Given the description of an element on the screen output the (x, y) to click on. 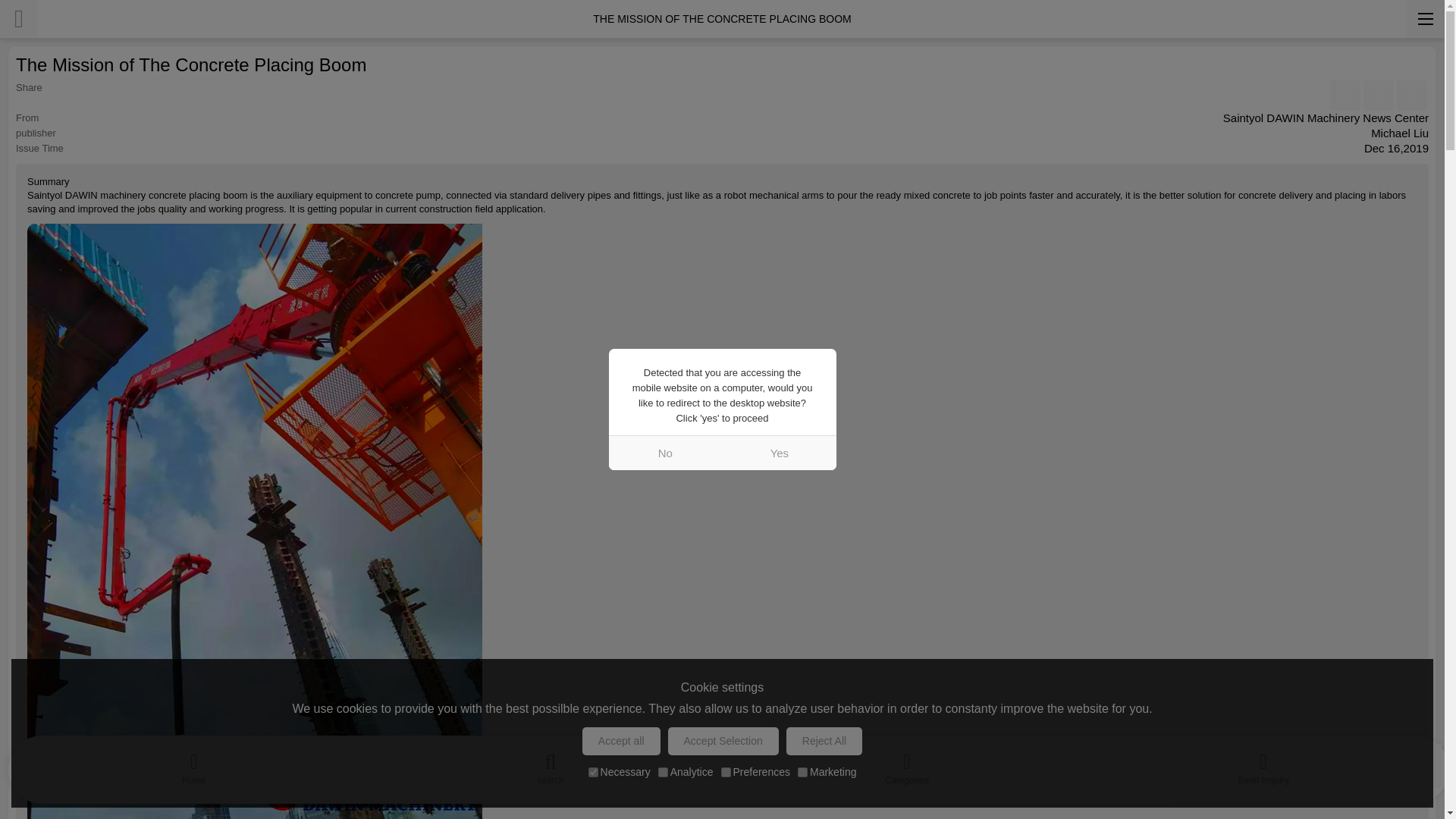
search (550, 765)
Home (194, 765)
Send Inquiry (1262, 765)
Return (18, 18)
on (663, 772)
search (550, 765)
Accept Selection (723, 741)
Yes (778, 452)
Share Facebook (1344, 95)
Accept all (621, 741)
Reject All (823, 741)
Categories (906, 765)
on (593, 772)
Home (194, 765)
Share Linkedin (1377, 95)
